Given the description of an element on the screen output the (x, y) to click on. 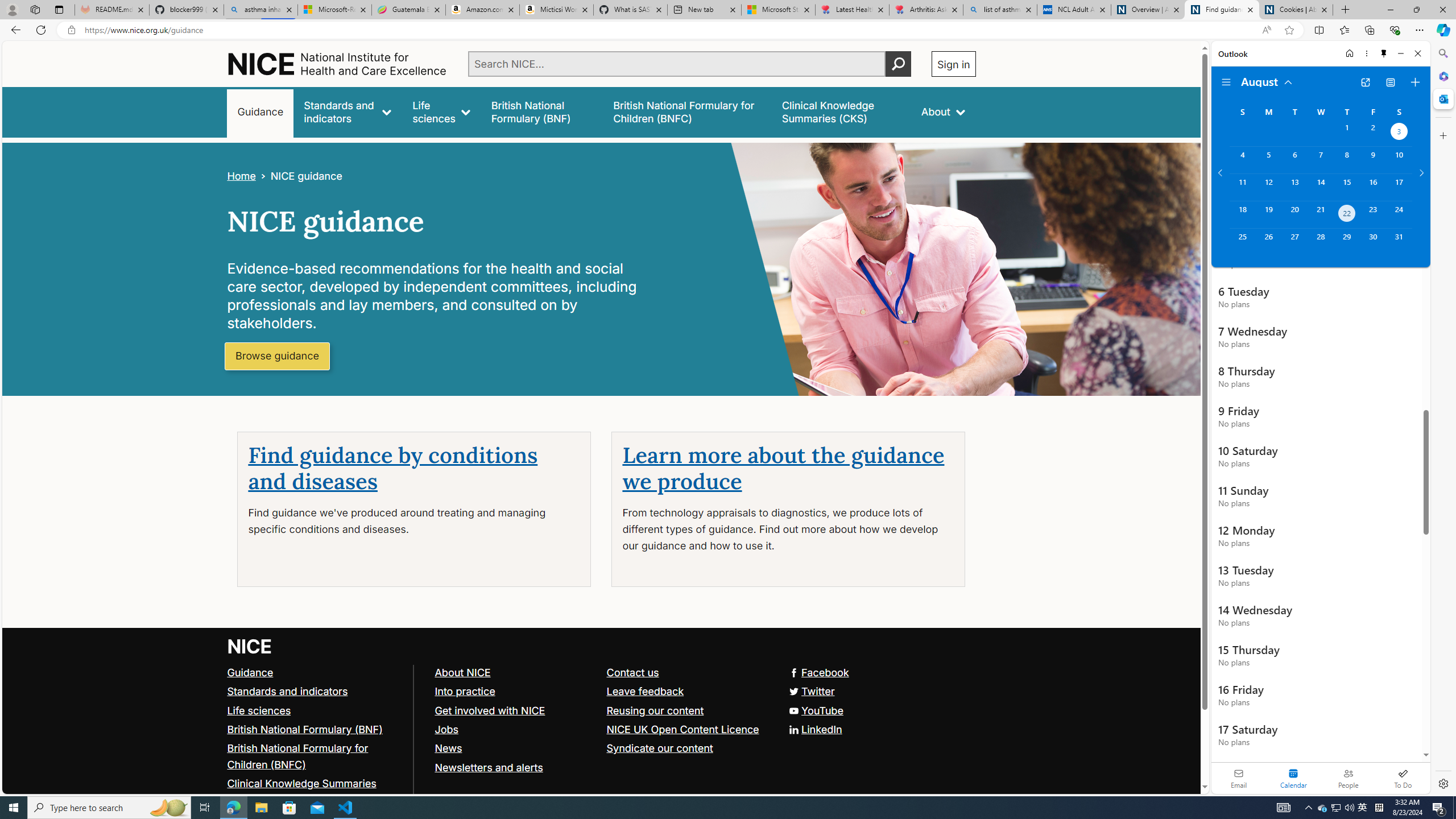
Thursday, August 29, 2024.  (1346, 241)
Friday, August 23, 2024.  (1372, 214)
Friday, August 30, 2024.  (1372, 241)
Jobs (514, 729)
Friday, August 2, 2024.  (1372, 132)
Friday, August 9, 2024.  (1372, 159)
About NICE (514, 672)
Leave feedback (686, 691)
Find guidance | NICE (1221, 9)
>NICE guidance (298, 176)
